Given the description of an element on the screen output the (x, y) to click on. 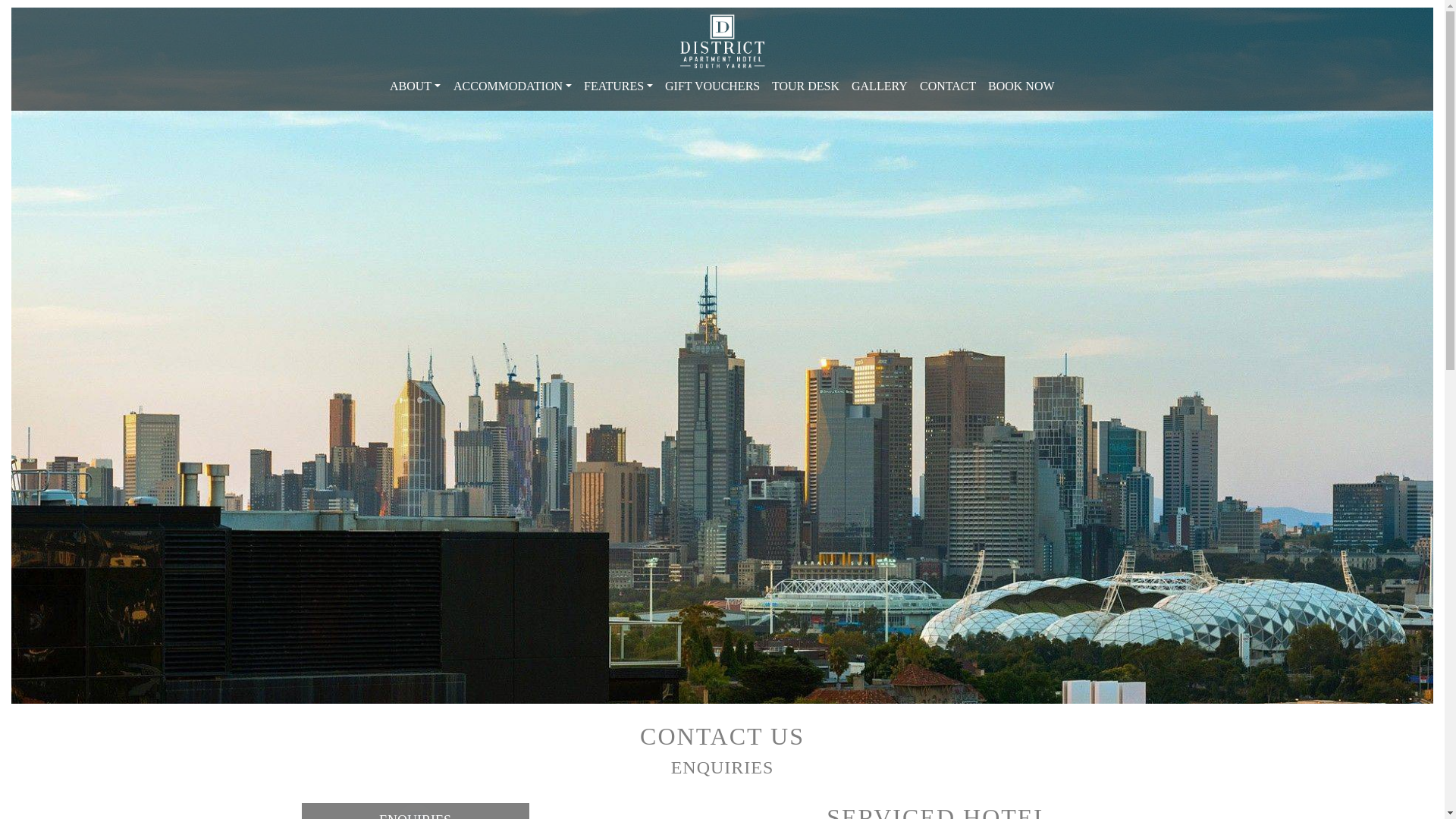
FEATURES Element type: text (617, 86)
ACCOMMODATION Element type: text (512, 86)
GIFT VOUCHERS Element type: text (711, 86)
CONTACT Element type: text (947, 86)
TOUR DESK Element type: text (805, 86)
ABOUT Element type: text (414, 86)
BOOK NOW Element type: text (1021, 86)
GALLERY Element type: text (879, 86)
